Given the description of an element on the screen output the (x, y) to click on. 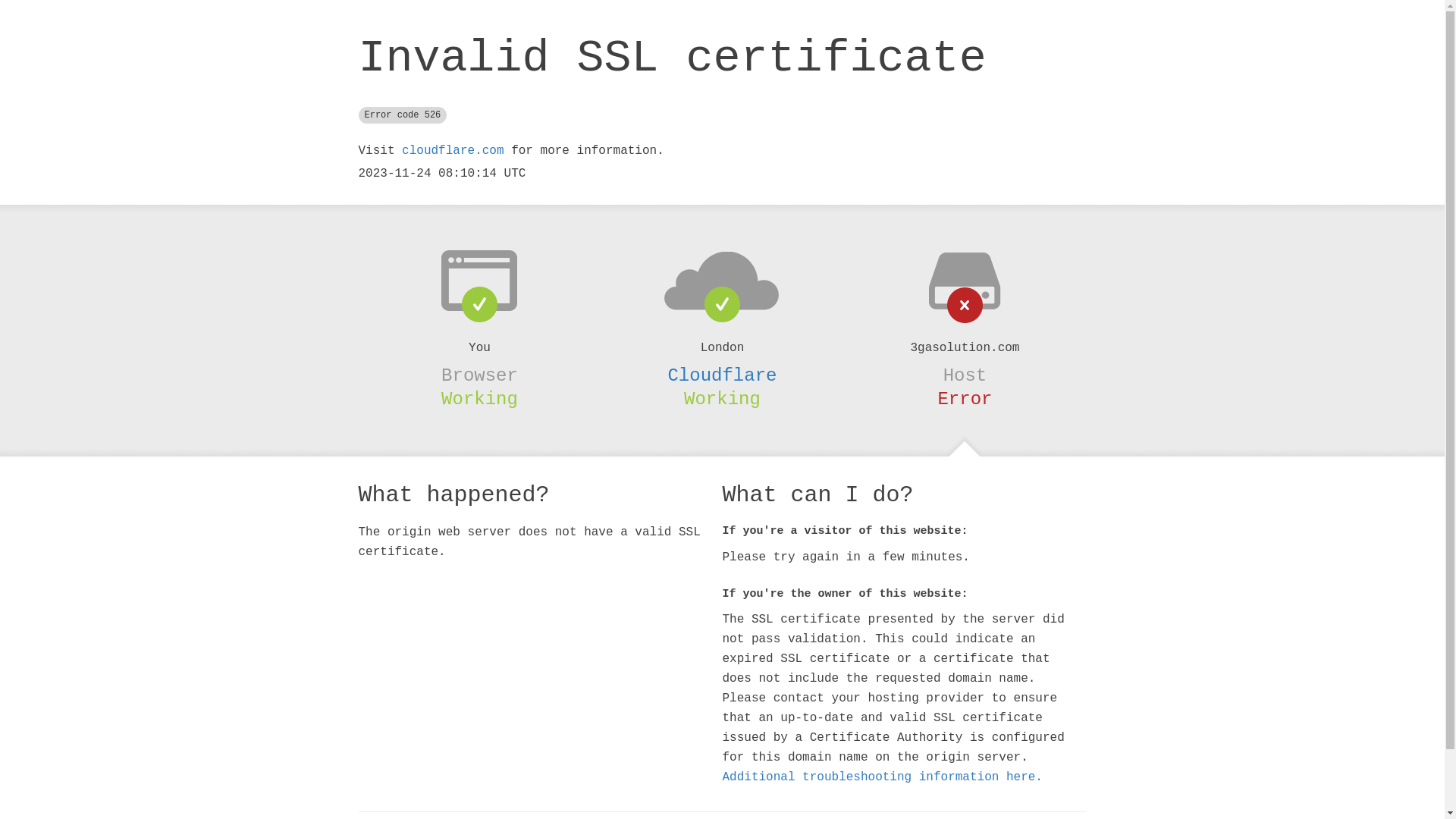
cloudflare.com Element type: text (452, 150)
Cloudflare Element type: text (721, 375)
Additional troubleshooting information here. Element type: text (881, 777)
